Given the description of an element on the screen output the (x, y) to click on. 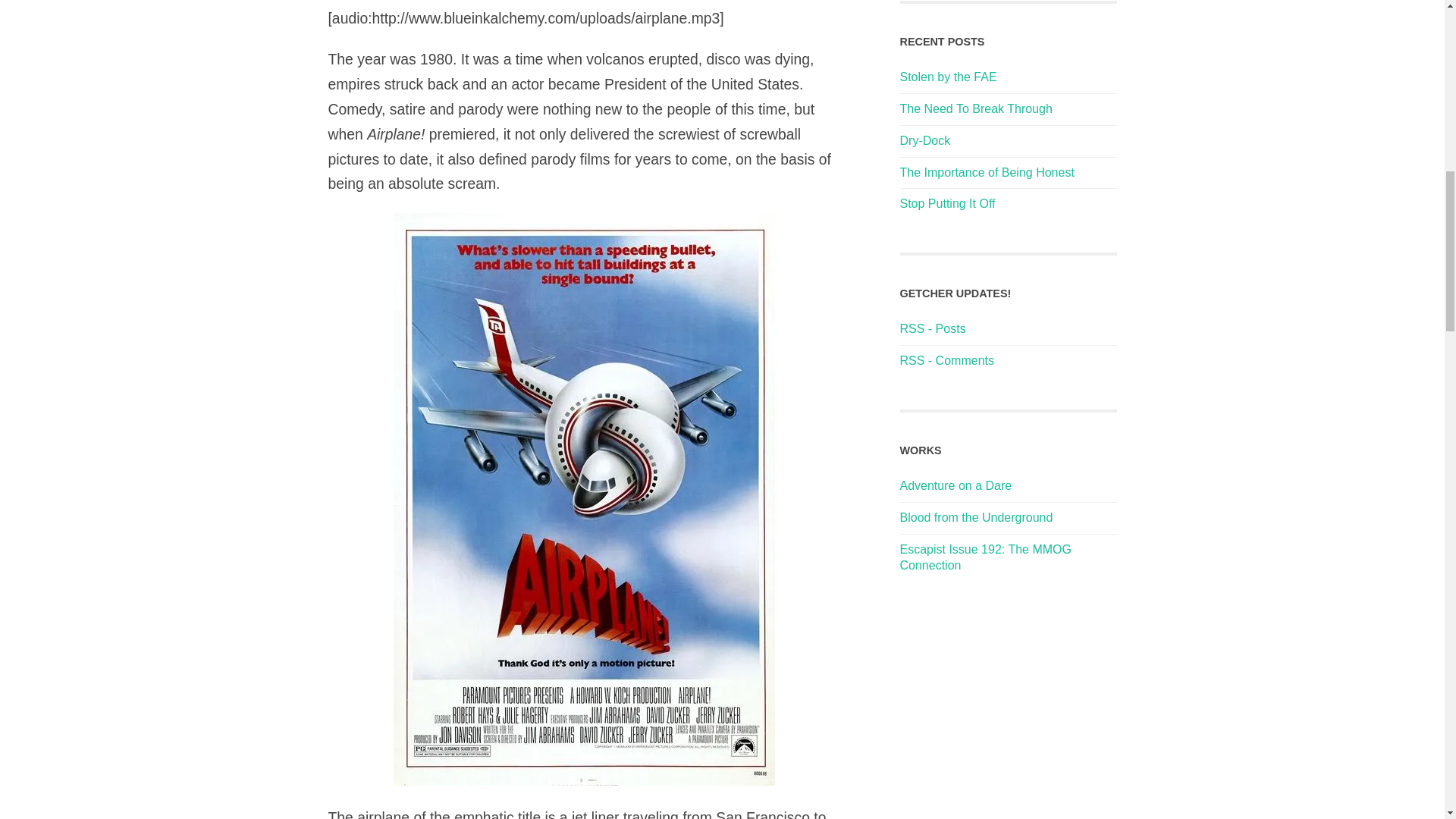
Subscribe to Comments (945, 359)
Subscribe to Posts (932, 328)
Featuring Akuma (975, 517)
